Given the description of an element on the screen output the (x, y) to click on. 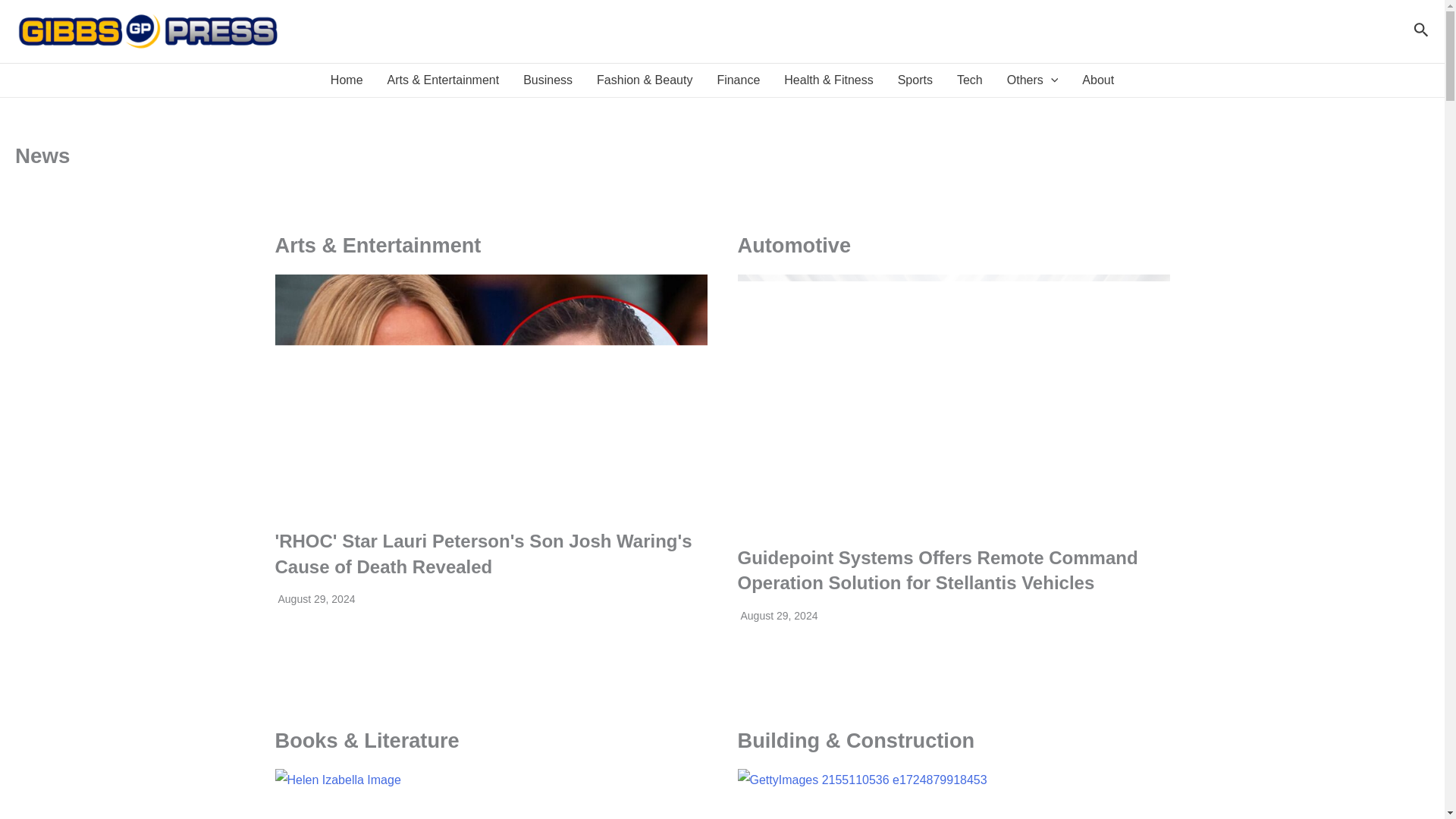
Sports (914, 80)
Home (346, 80)
About (1097, 80)
Finance (737, 80)
Others (1032, 80)
Business (548, 80)
Tech (969, 80)
